Given the description of an element on the screen output the (x, y) to click on. 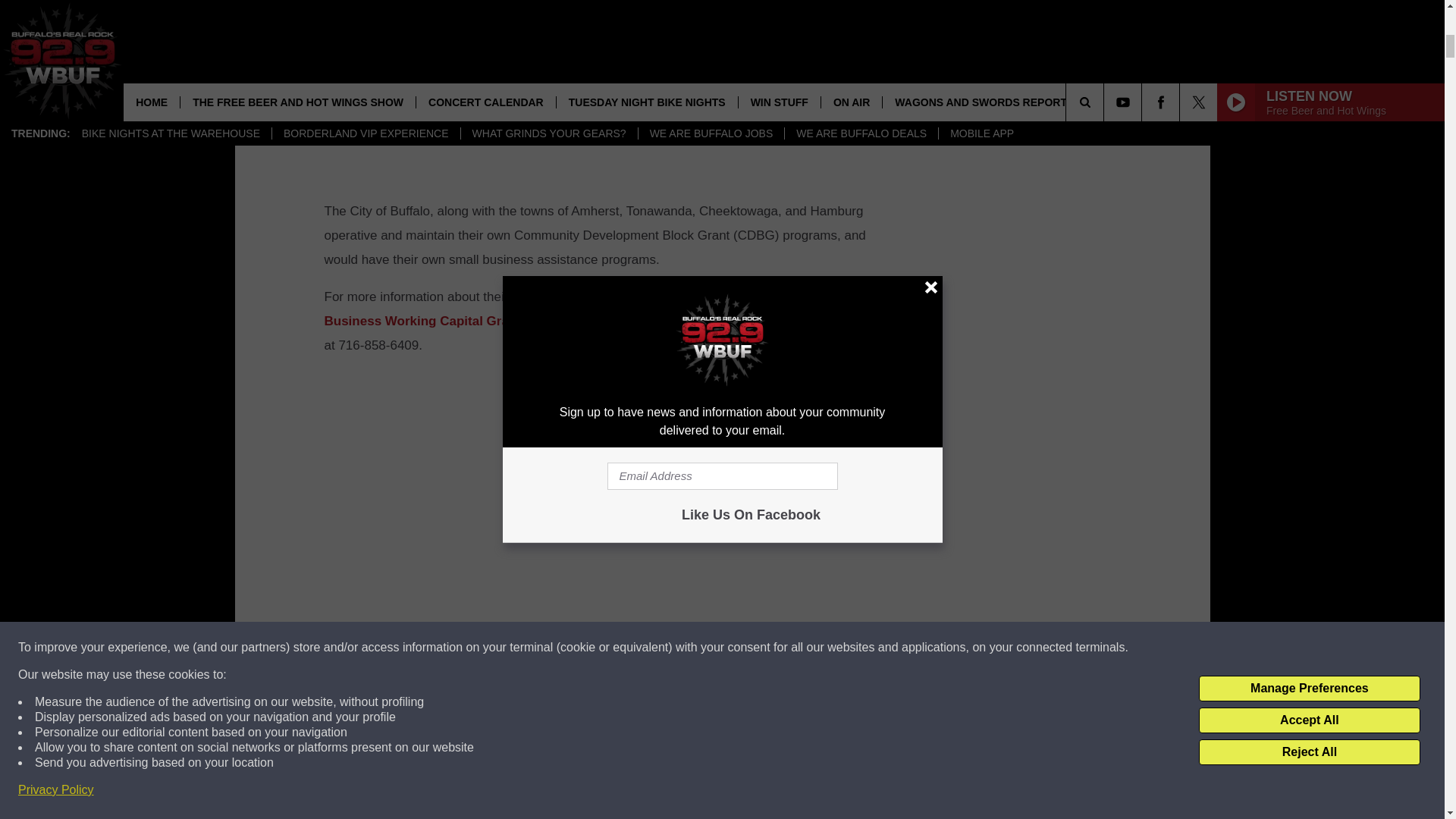
Email Address (600, 775)
